Given the description of an element on the screen output the (x, y) to click on. 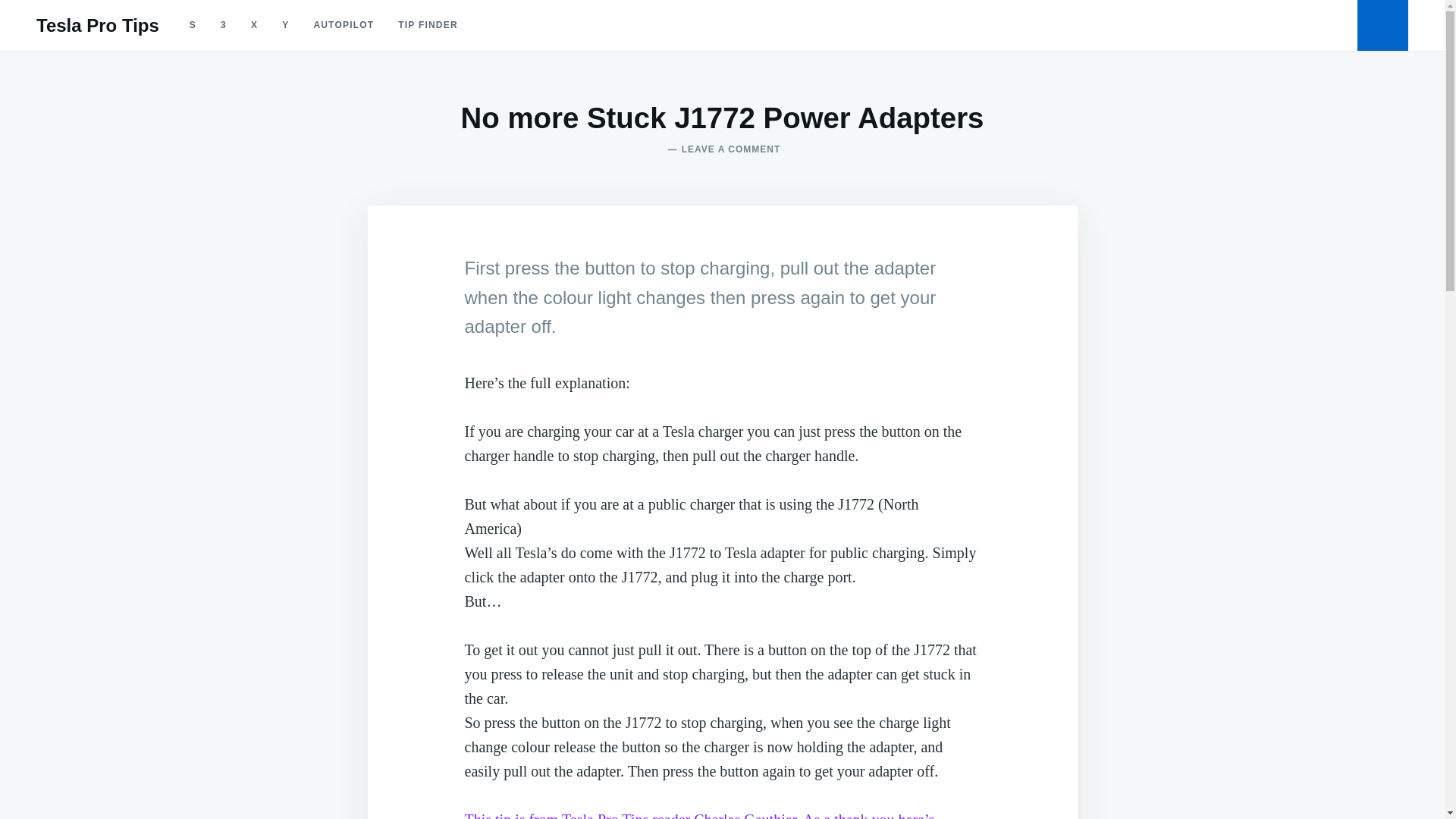
Y (285, 25)
S (192, 25)
X (253, 25)
AUTOPILOT (343, 25)
Tesla Pro Tips (721, 149)
3 (97, 25)
Tesla Pro Tips (223, 25)
TIP FINDER (604, 815)
